Given the description of an element on the screen output the (x, y) to click on. 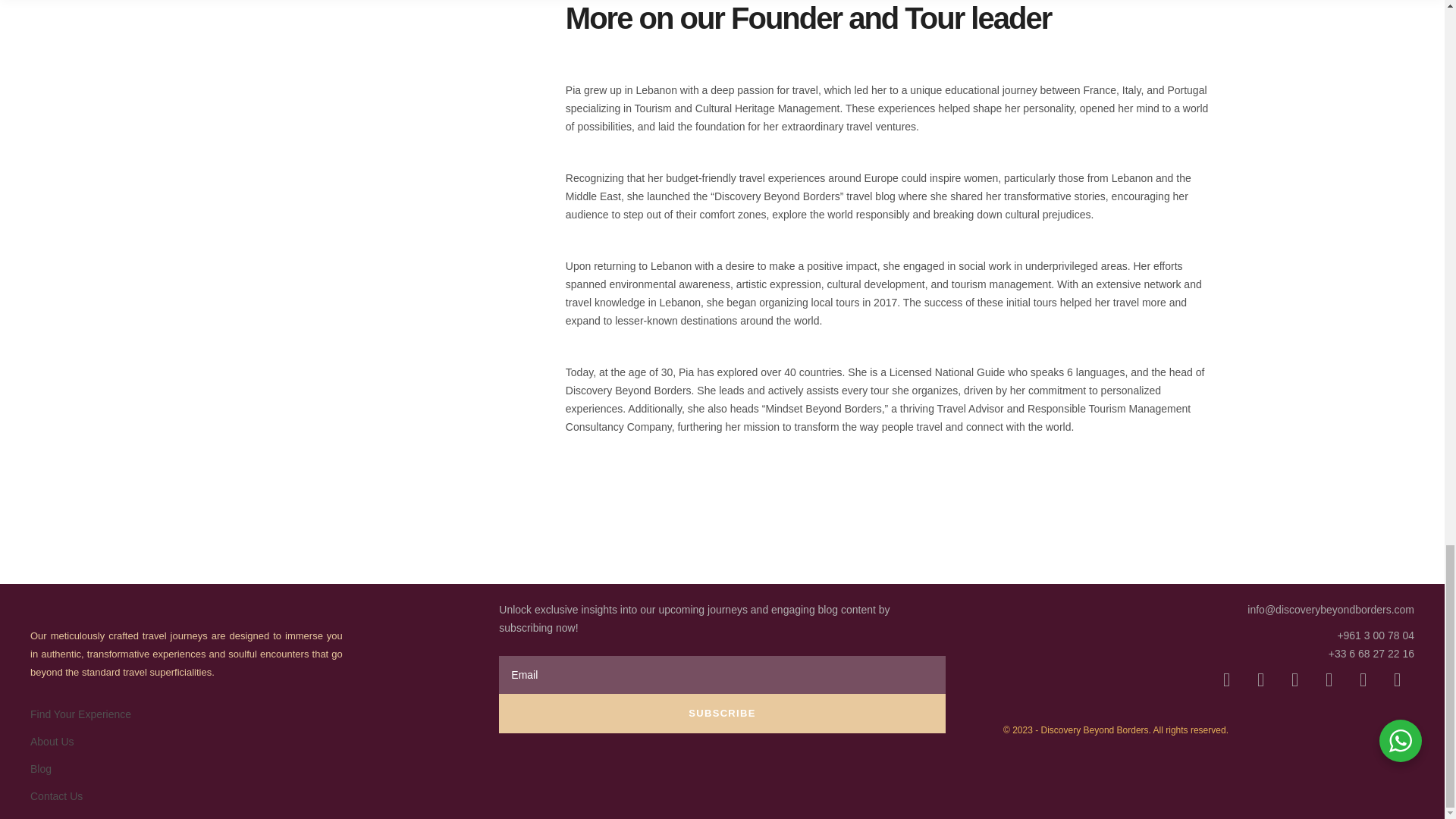
Blog (40, 768)
photo linked to my message in about us (400, 130)
About Us (52, 741)
Subscribe (721, 713)
Subscribe (721, 713)
Contact Us (56, 796)
Find Your Experience (80, 714)
pia photo (400, 442)
